Given the description of an element on the screen output the (x, y) to click on. 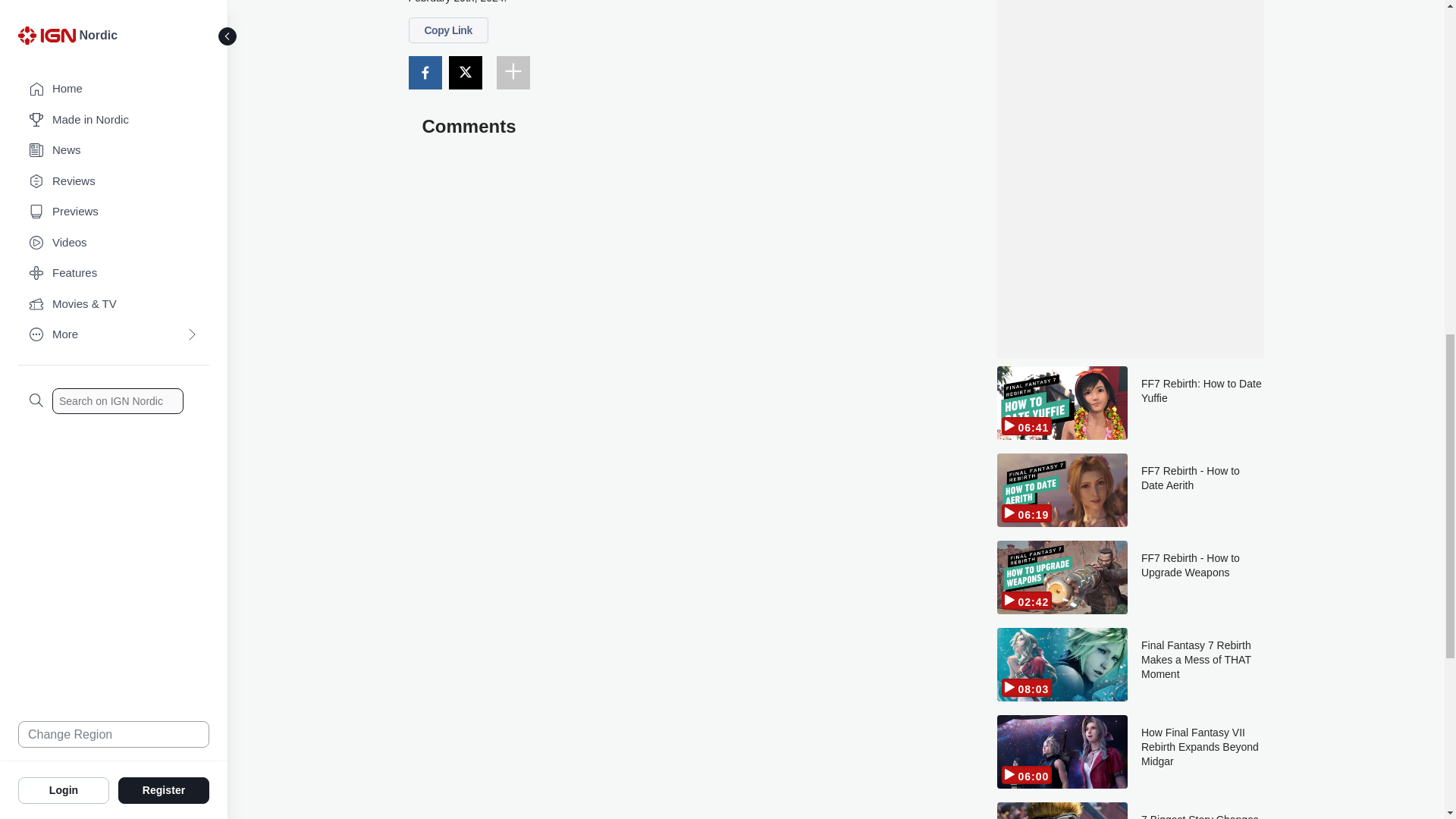
FF7 Rebirth: How to Date Yuffie (1202, 402)
3rd party ad content (1129, 131)
Copy Link (447, 30)
06:41 (1060, 402)
